Given the description of an element on the screen output the (x, y) to click on. 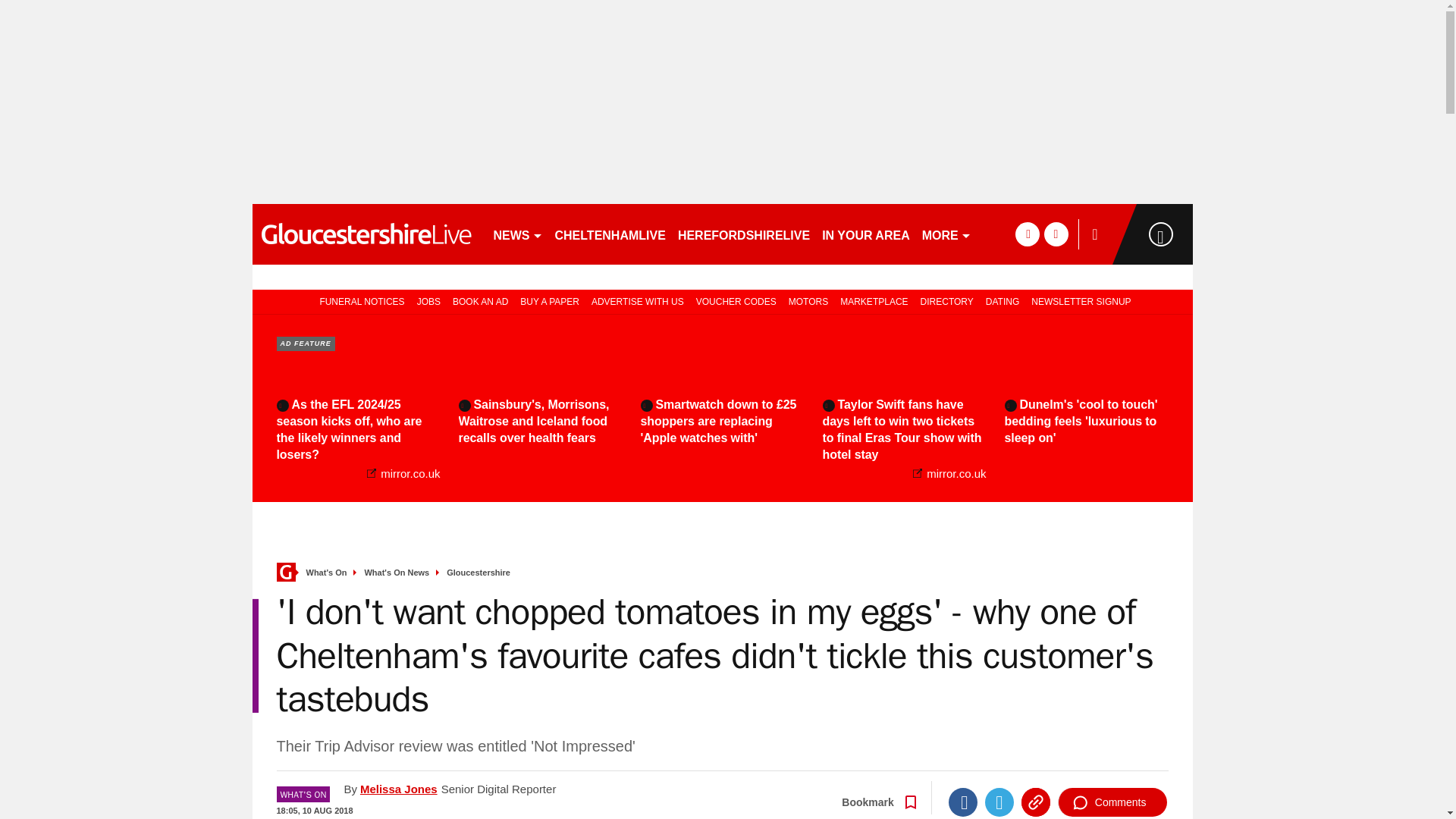
Facebook (962, 801)
CHELTENHAMLIVE (609, 233)
Twitter (999, 801)
gloucestershirelive (365, 233)
HEREFORDSHIRELIVE (743, 233)
facebook (1026, 233)
twitter (1055, 233)
IN YOUR AREA (865, 233)
MORE (945, 233)
Comments (1112, 801)
